Given the description of an element on the screen output the (x, y) to click on. 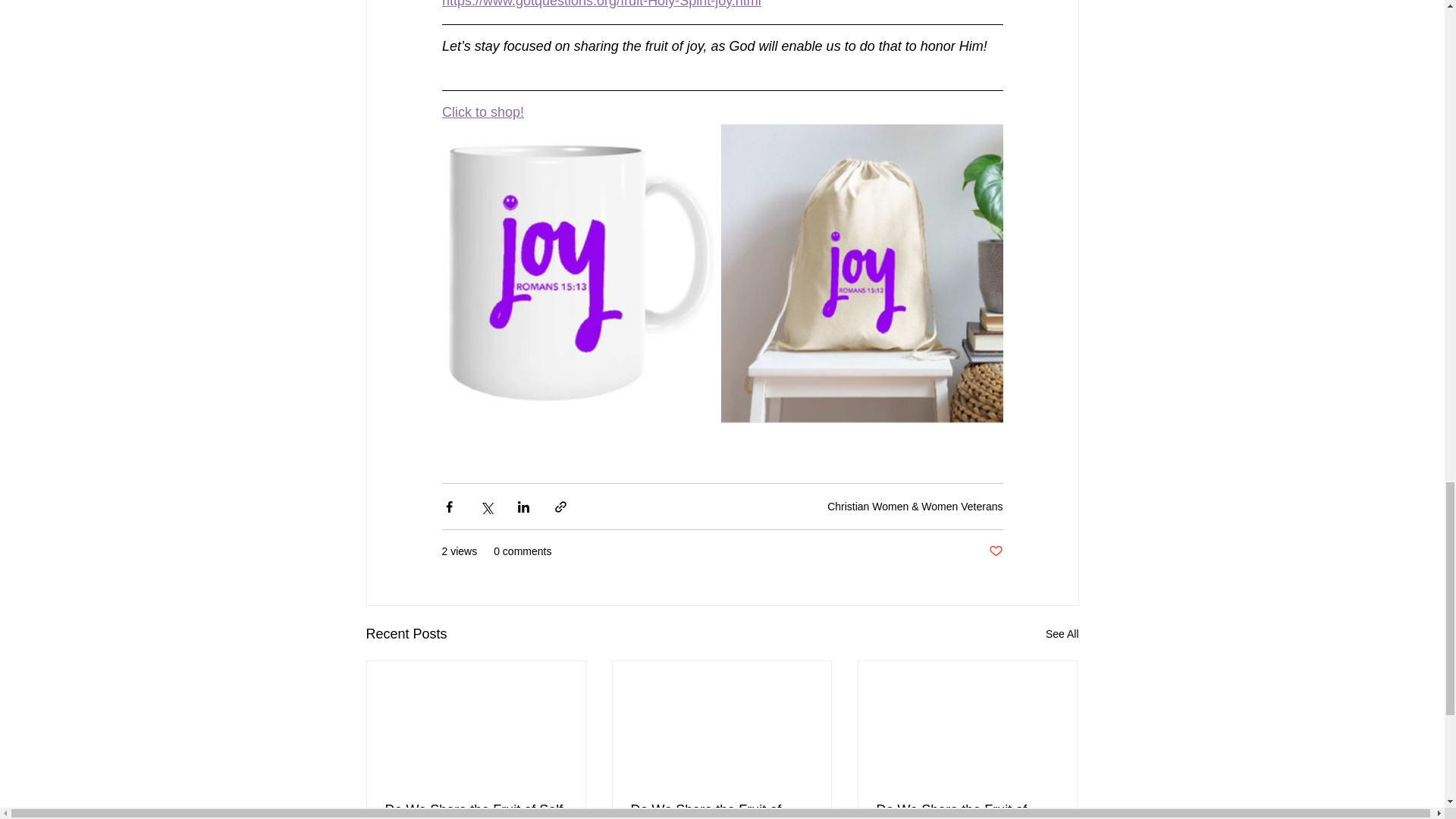
Post not marked as liked (995, 551)
Click to shop! (481, 111)
